Given the description of an element on the screen output the (x, y) to click on. 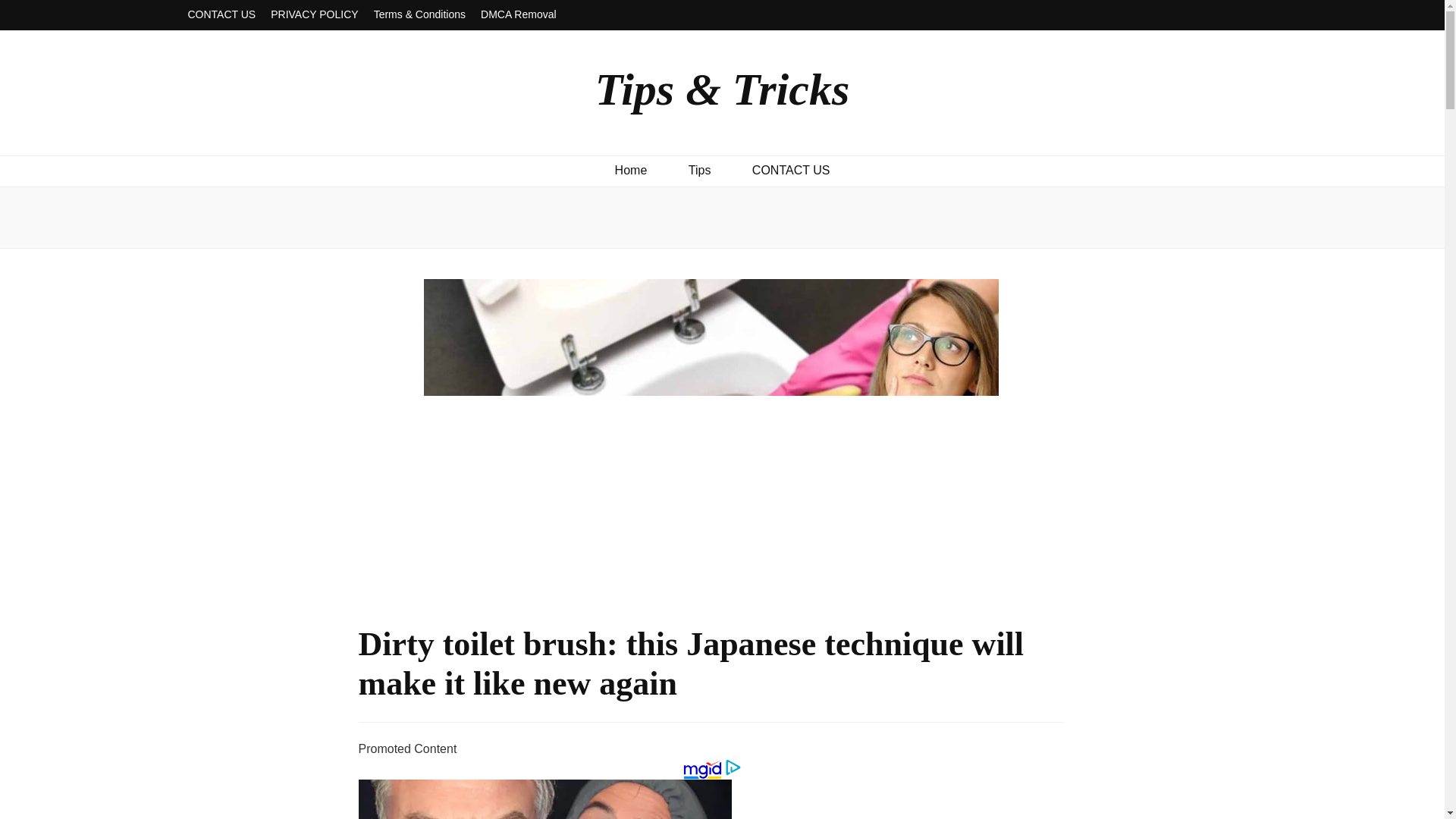
Home (630, 170)
PRIVACY POLICY (314, 15)
DMCA Removal (518, 15)
CONTACT US (221, 15)
CONTACT US (790, 170)
Tips (699, 170)
